Given the description of an element on the screen output the (x, y) to click on. 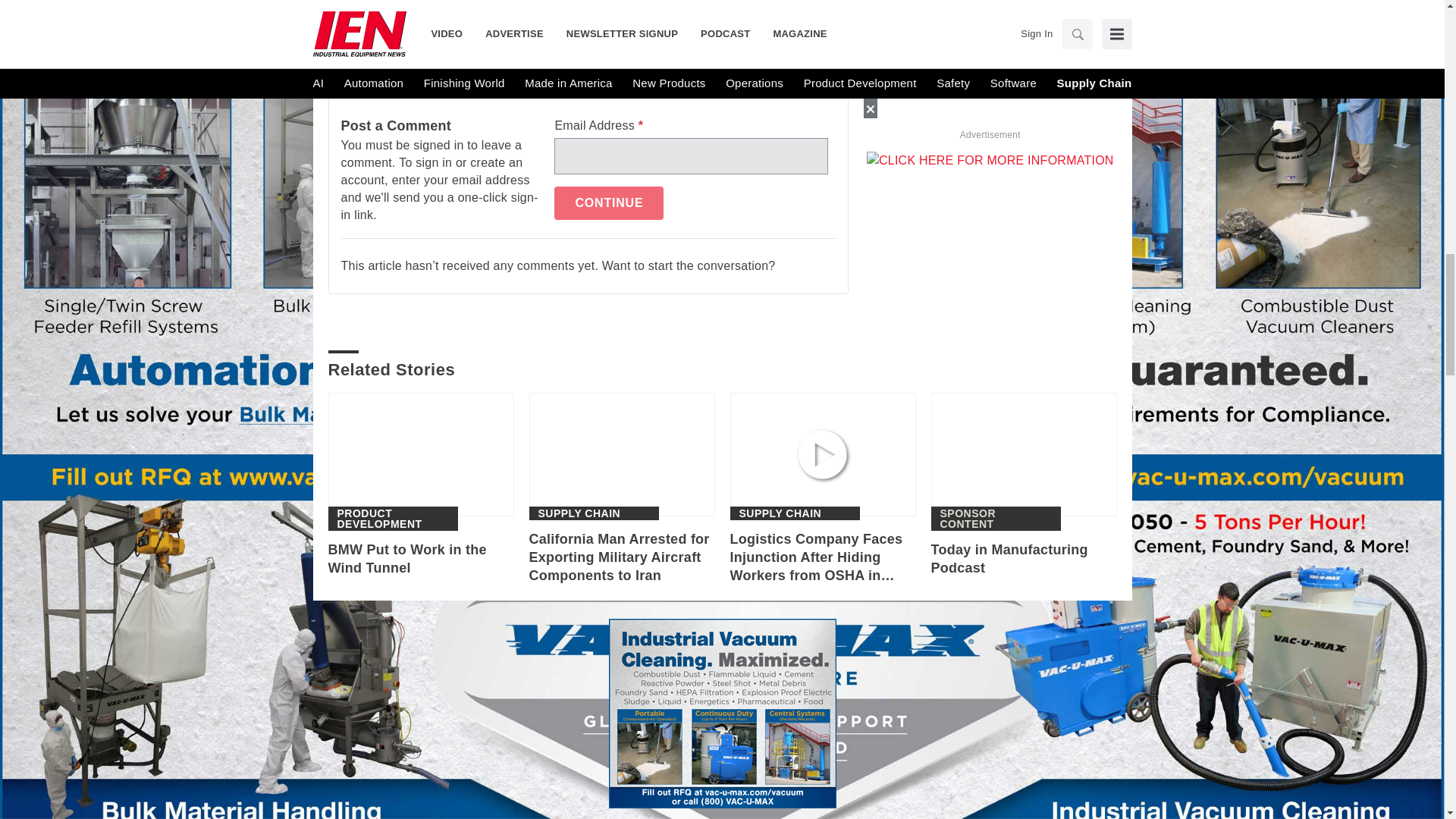
Share To print (342, 6)
Share To facebook (381, 6)
Share To linkedin (421, 6)
